Given the description of an element on the screen output the (x, y) to click on. 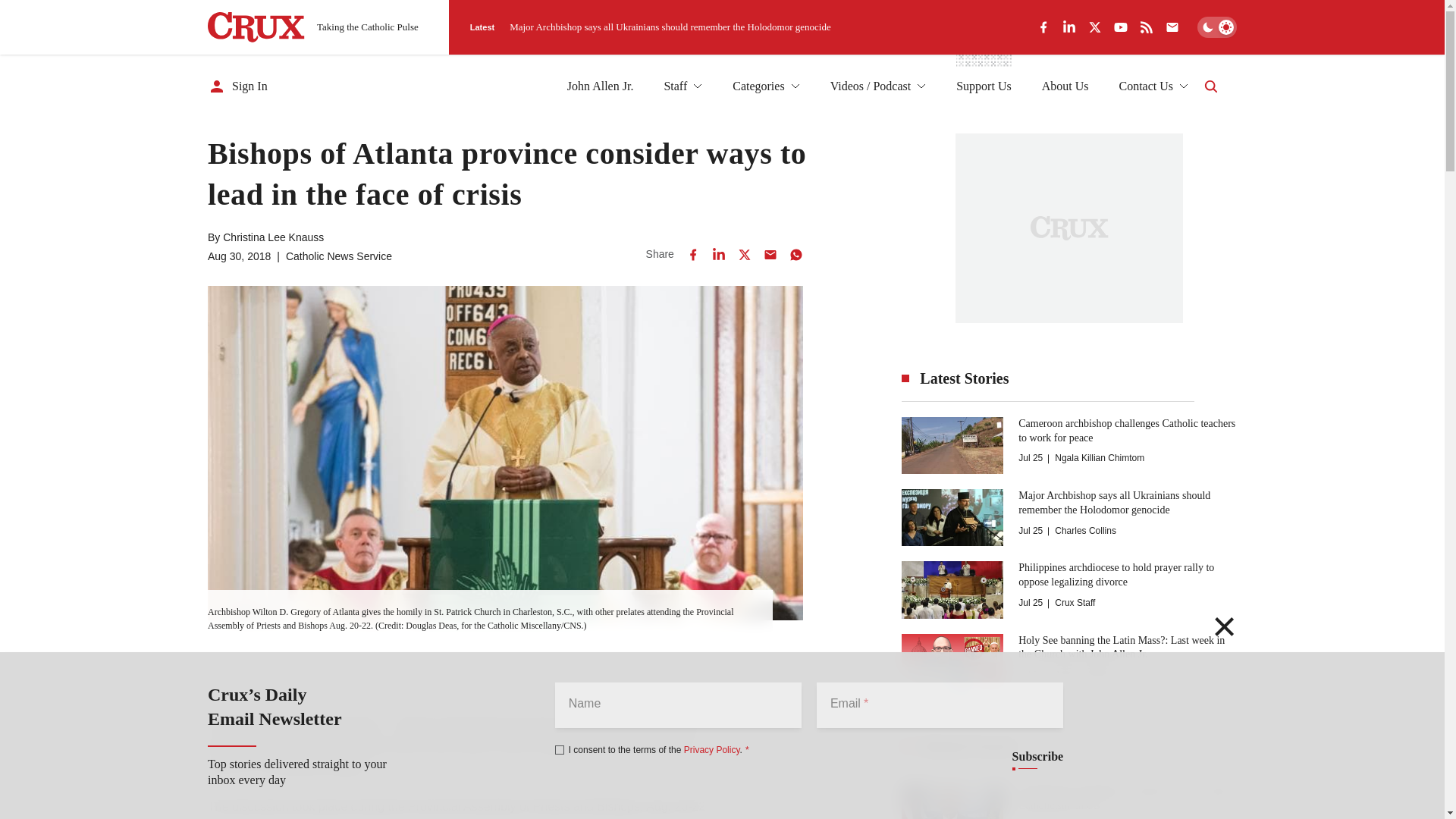
Staff (682, 85)
Sign In (237, 85)
Subscribe (1037, 756)
Support Us (983, 85)
true (559, 749)
Categories (765, 85)
John Allen Jr. (600, 85)
Privacy Policy (711, 749)
